Given the description of an element on the screen output the (x, y) to click on. 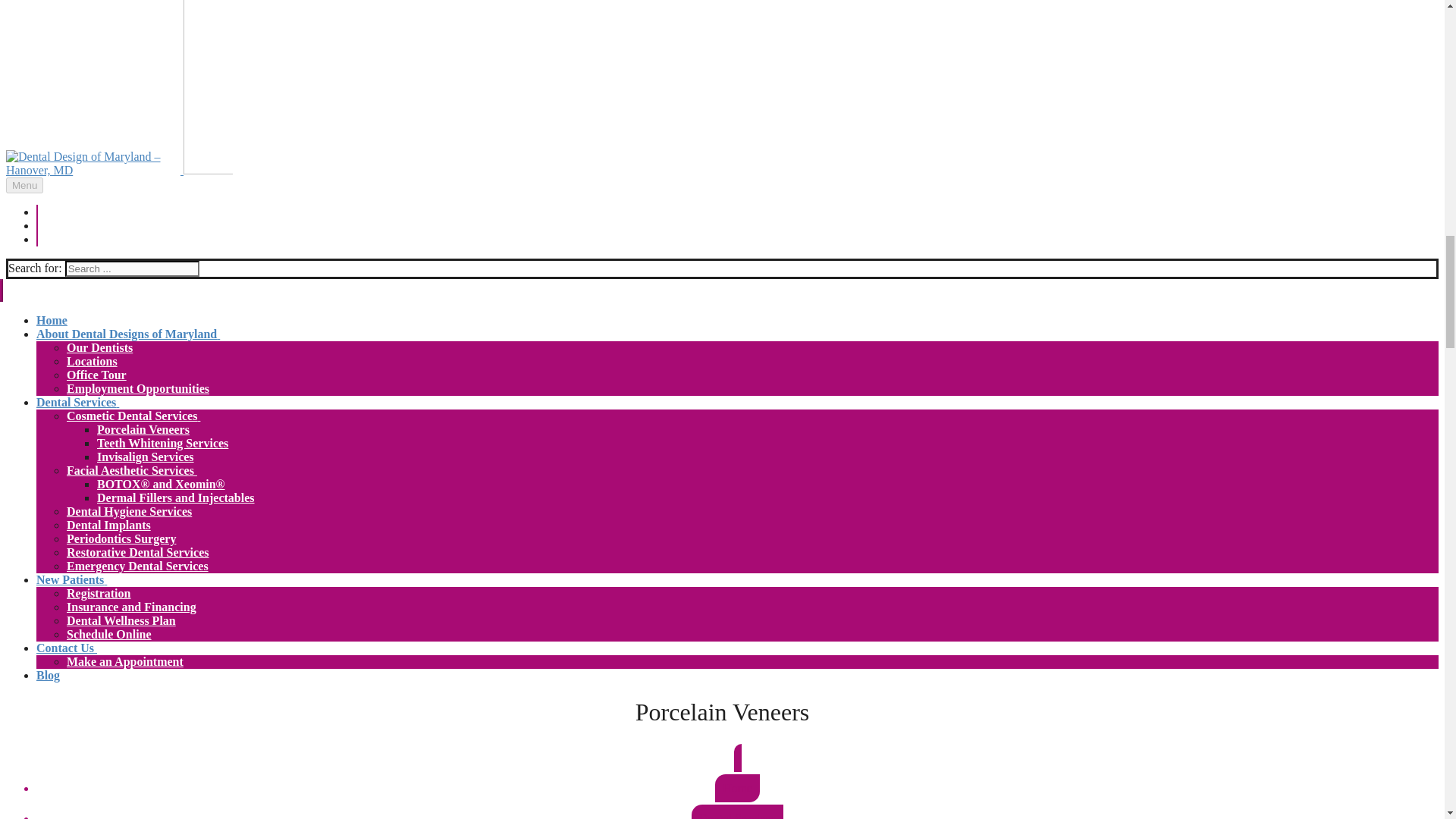
Search for: (132, 268)
